Given the description of an element on the screen output the (x, y) to click on. 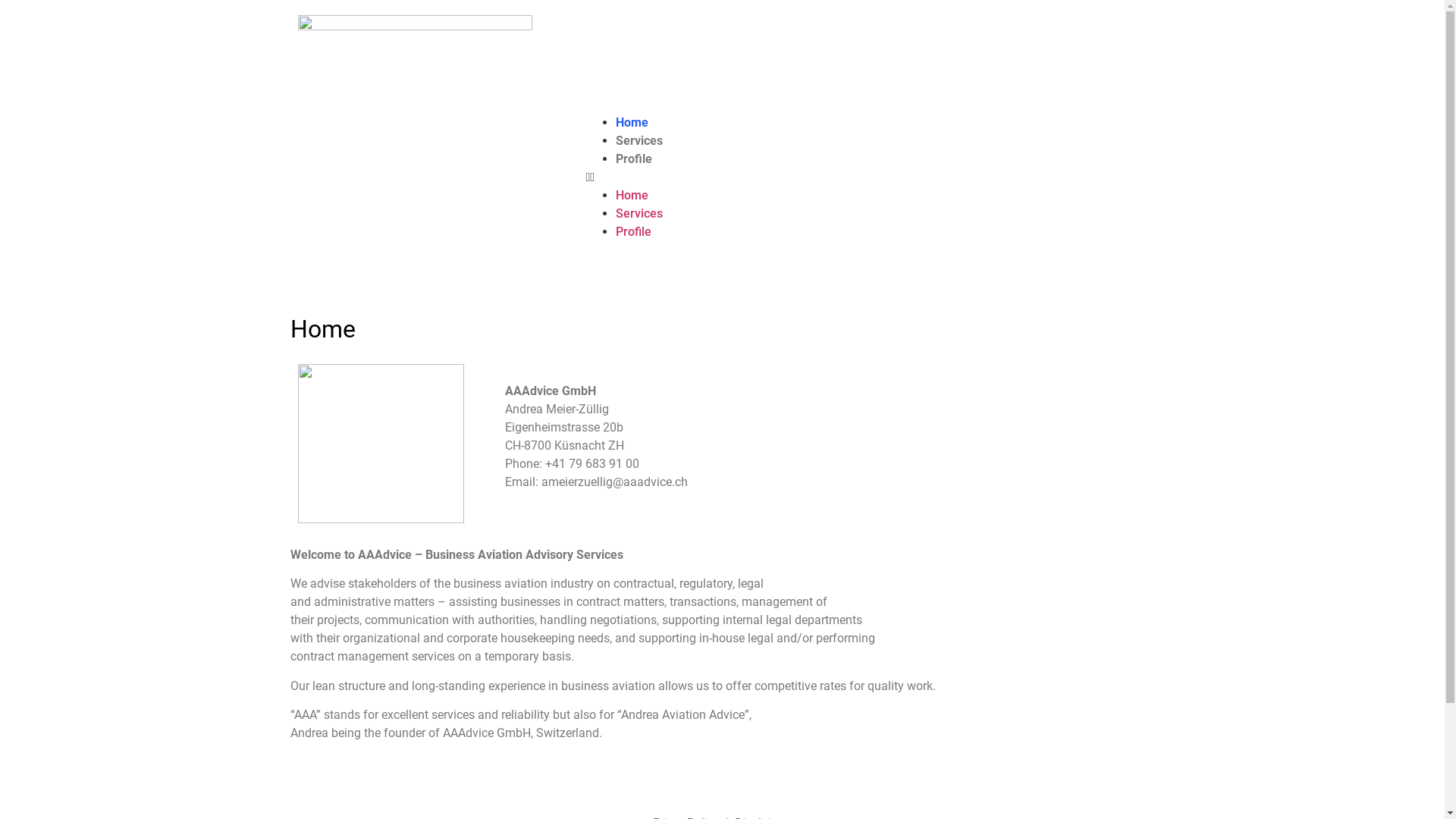
Profile Element type: text (633, 231)
Profile Element type: text (633, 158)
Home Element type: text (631, 122)
Services Element type: text (638, 140)
Home Element type: text (631, 195)
Services Element type: text (638, 213)
